Given the description of an element on the screen output the (x, y) to click on. 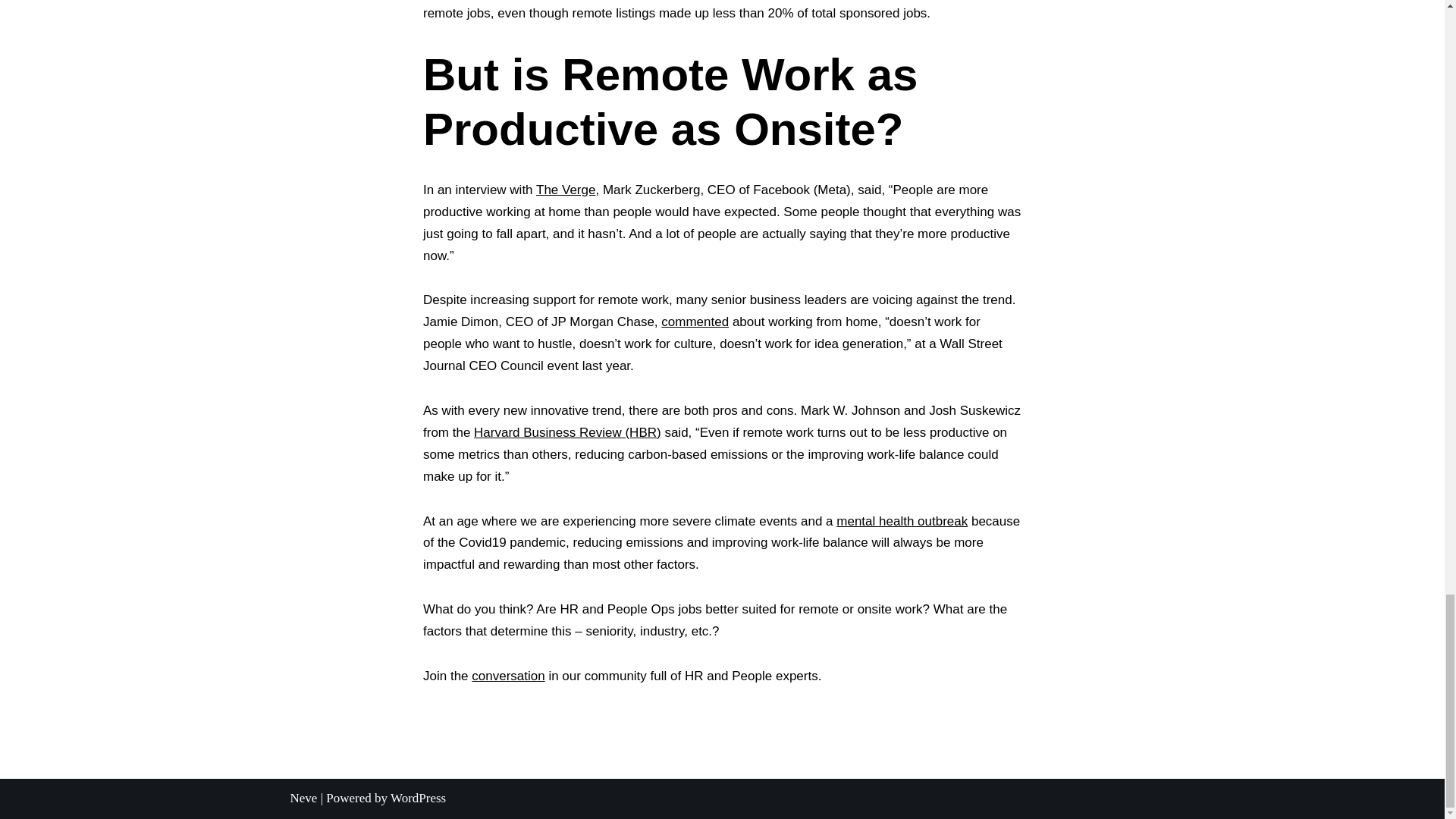
Neve (303, 798)
WordPress (417, 798)
commented (695, 321)
The Verge (565, 189)
mental health outbreak (901, 521)
conversation (507, 676)
